Given the description of an element on the screen output the (x, y) to click on. 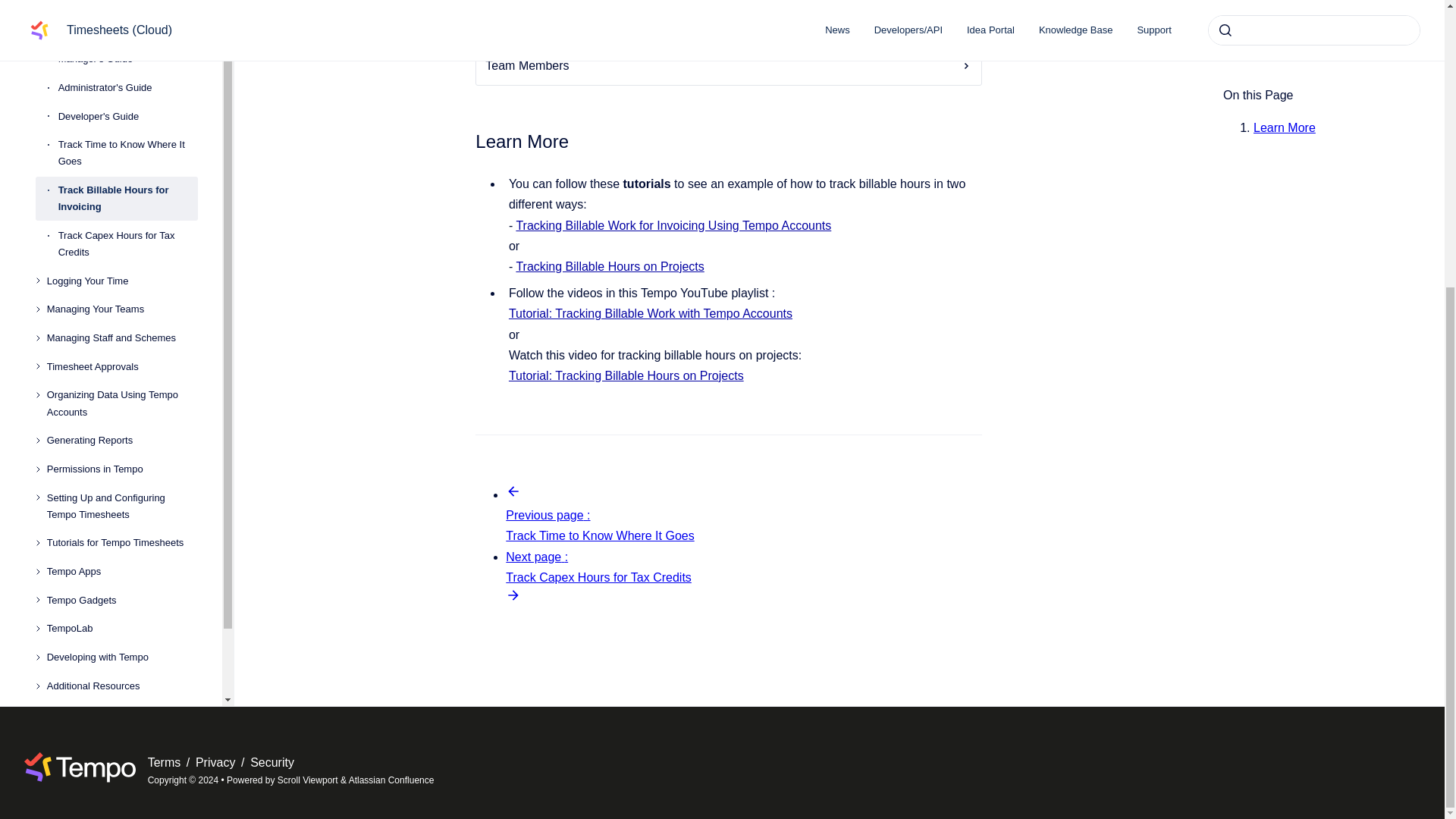
Organizing Data Using Tempo Accounts (122, 82)
Setting Up and Configuring Tempo Timesheets (122, 184)
Generating Reports (122, 118)
Managing Your Teams (122, 1)
Managing Staff and Schemes (122, 16)
Timesheet Approvals (122, 44)
Tempo Apps (122, 249)
Tutorials for Tempo Timesheets (122, 221)
Permissions in Tempo (122, 147)
